Given the description of an element on the screen output the (x, y) to click on. 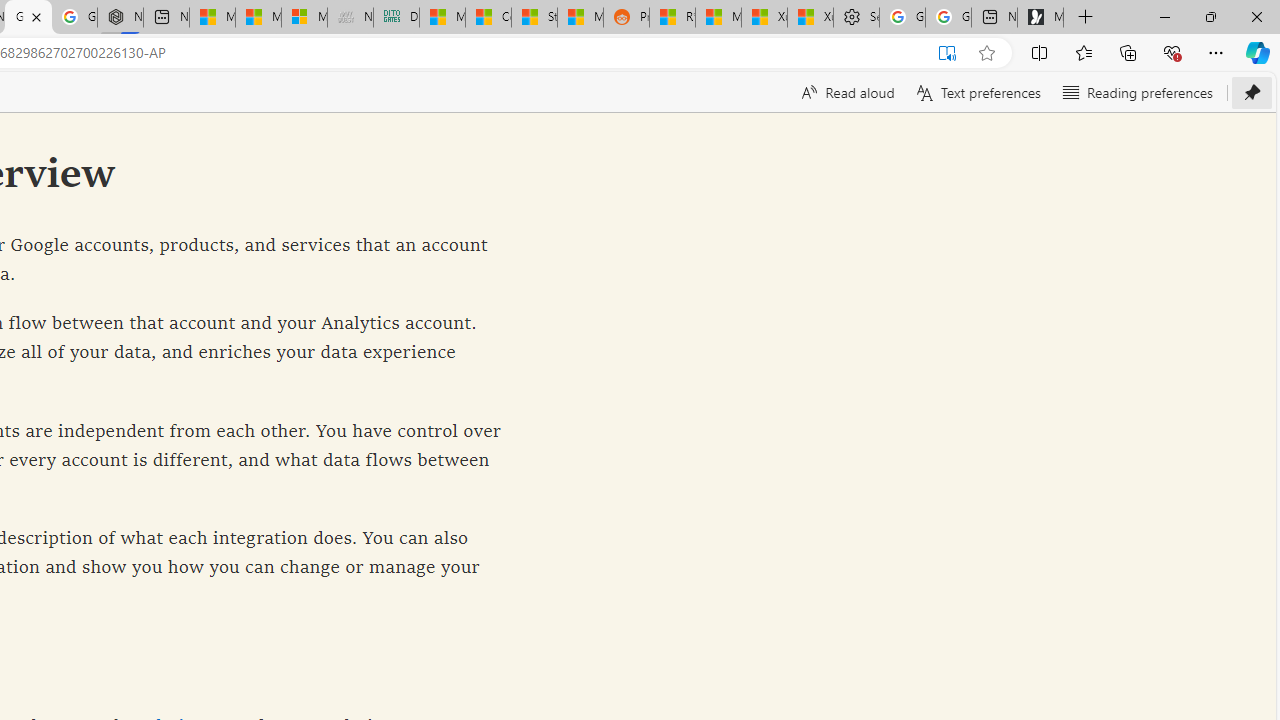
Read aloud (846, 92)
